Given the description of an element on the screen output the (x, y) to click on. 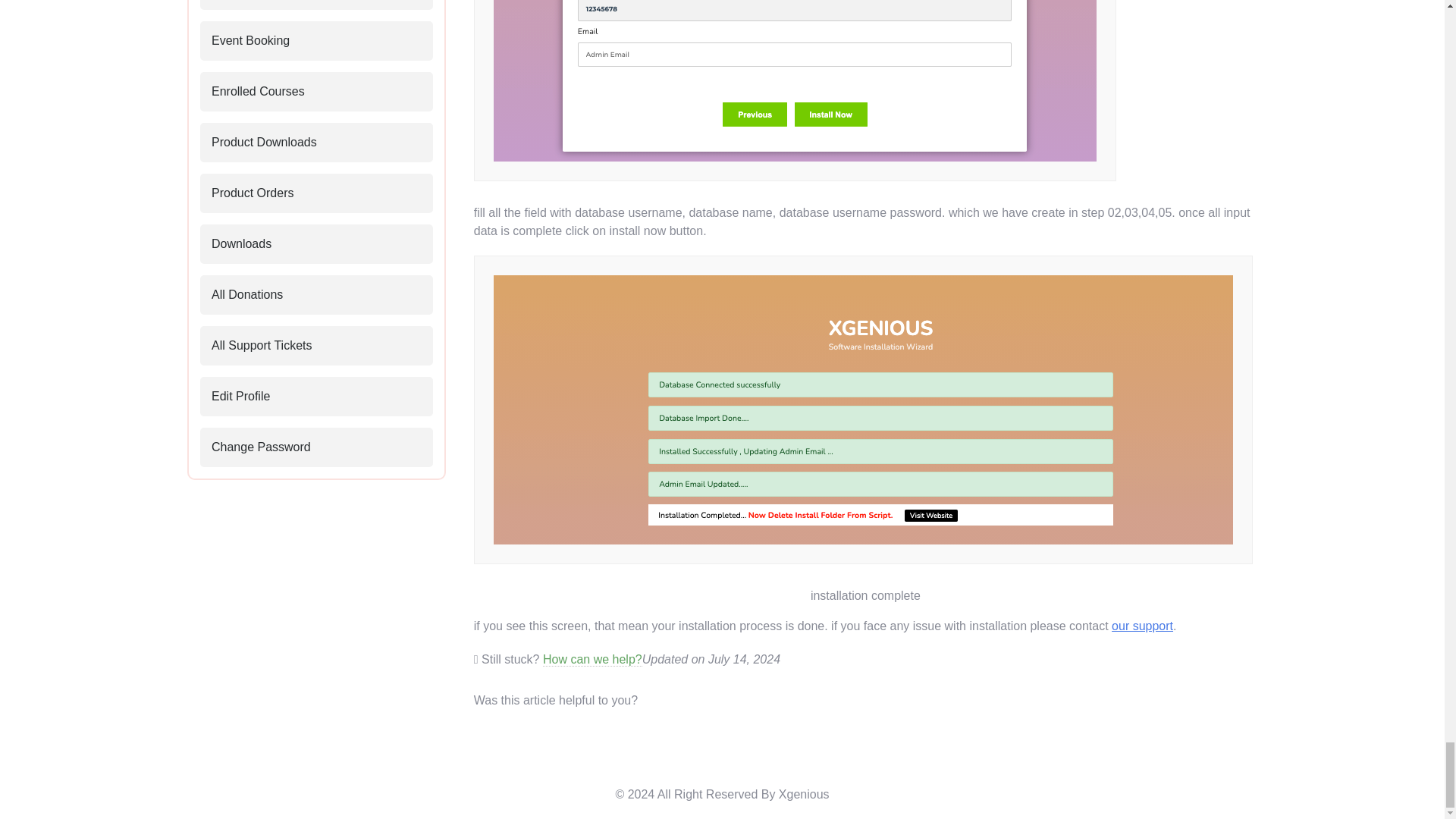
No votes yet (669, 699)
No votes yet (651, 699)
